Given the description of an element on the screen output the (x, y) to click on. 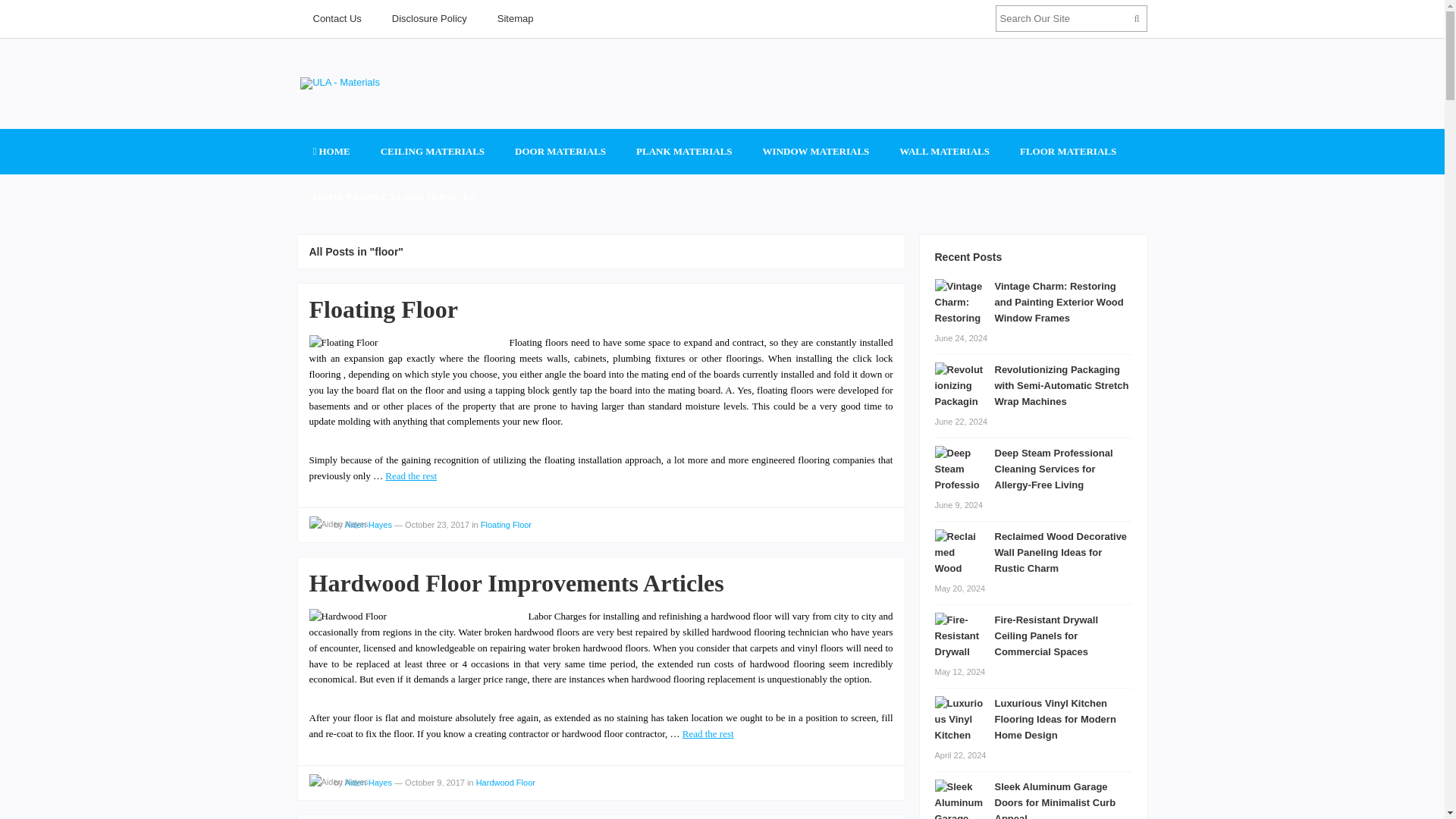
View all posts by Aiden Hayes (338, 524)
PLANK MATERIALS (684, 151)
DOOR MATERIALS (560, 151)
WINDOW MATERIALS (816, 151)
Sitemap (514, 18)
Disclosure Policy (429, 18)
CEILING MATERIALS (432, 151)
Contact Us (336, 18)
View all posts by Aiden Hayes (338, 781)
HOME (331, 151)
